Given the description of an element on the screen output the (x, y) to click on. 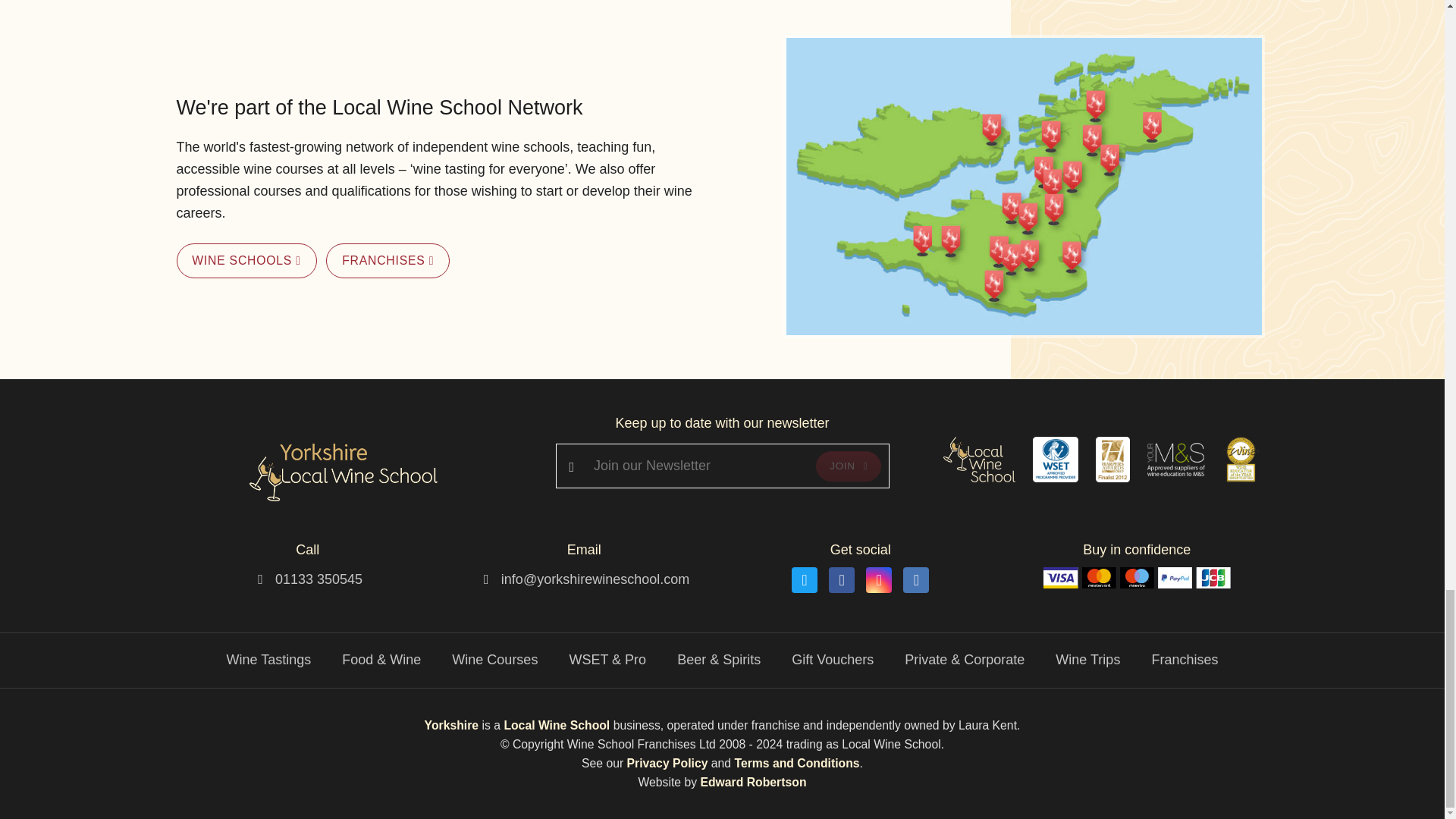
Visit our Facebook (841, 579)
Call us (318, 579)
Visit our LinkedIn (915, 579)
Visit our Twitter (804, 579)
Visit our Instagram (878, 579)
Send us an email (594, 579)
